Given the description of an element on the screen output the (x, y) to click on. 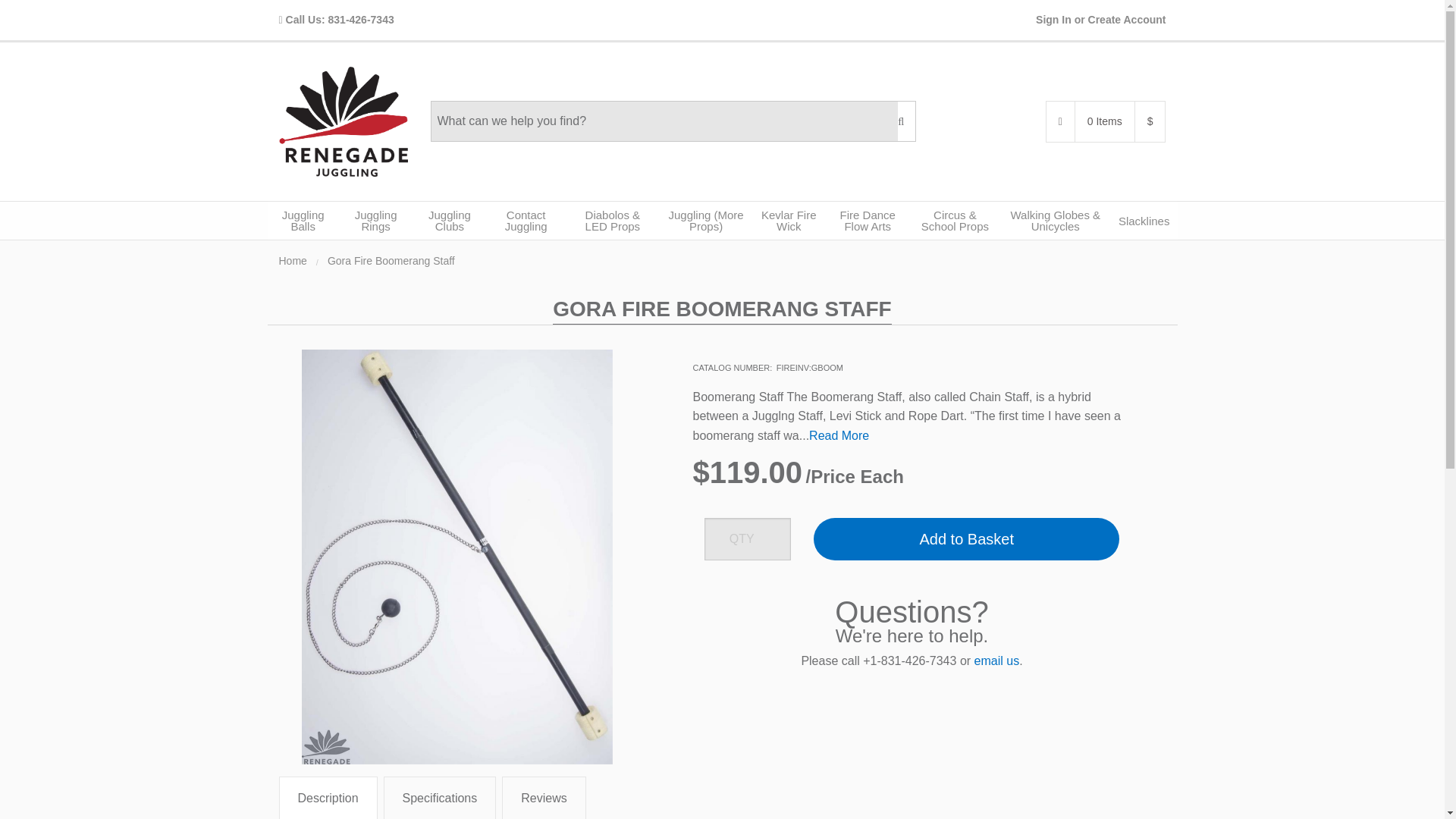
Juggling Balls (301, 220)
Call Us: 831-426-7343 (336, 19)
Create Account (1126, 19)
Juggling Clubs (449, 220)
Juggling Rings (375, 220)
Sign In (1053, 19)
